Given the description of an element on the screen output the (x, y) to click on. 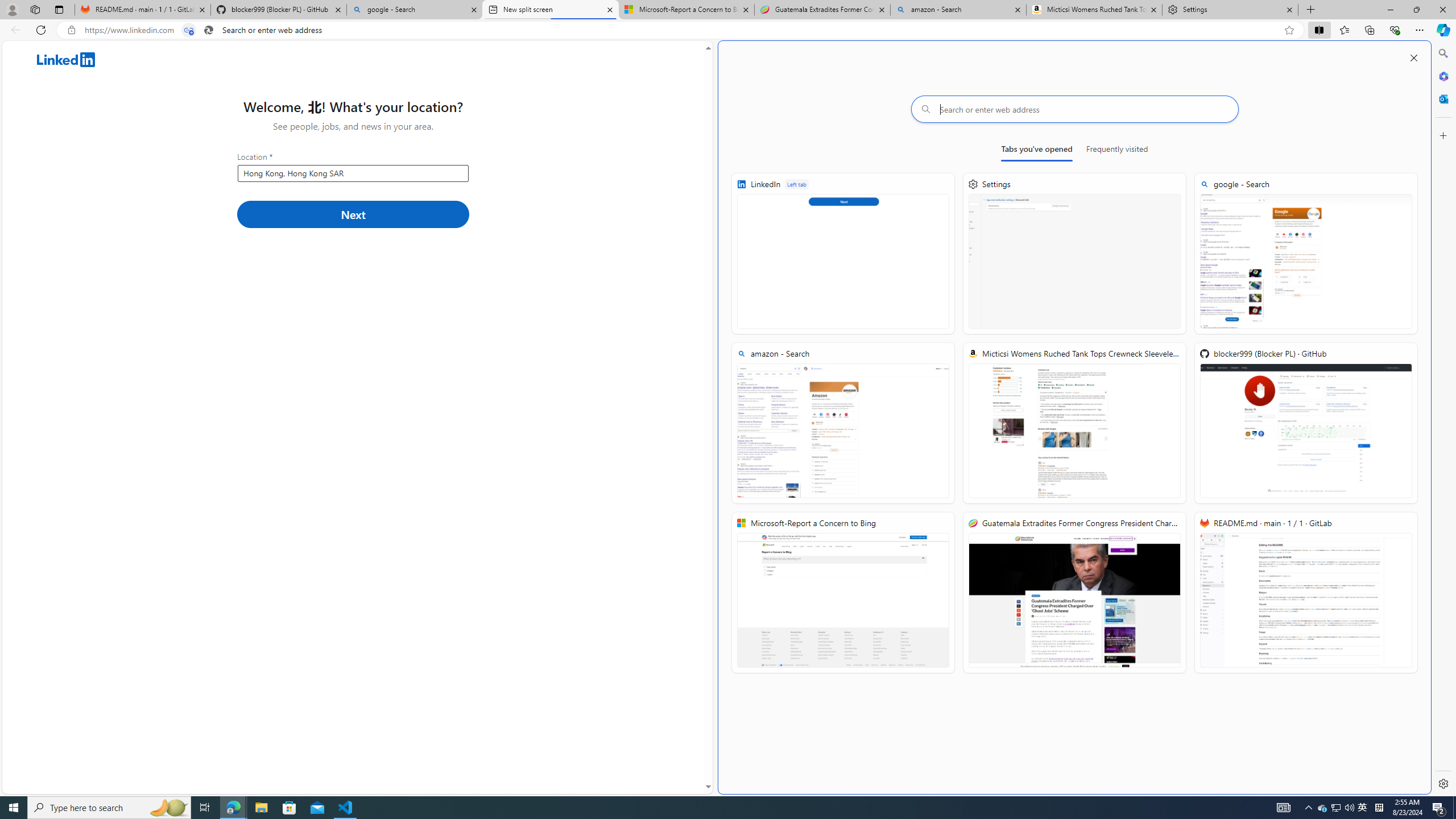
Search or enter web address (1074, 108)
Tabs you've opened (1037, 151)
amazon - Search (842, 423)
Microsoft-Report a Concern to Bing (842, 592)
